Given the description of an element on the screen output the (x, y) to click on. 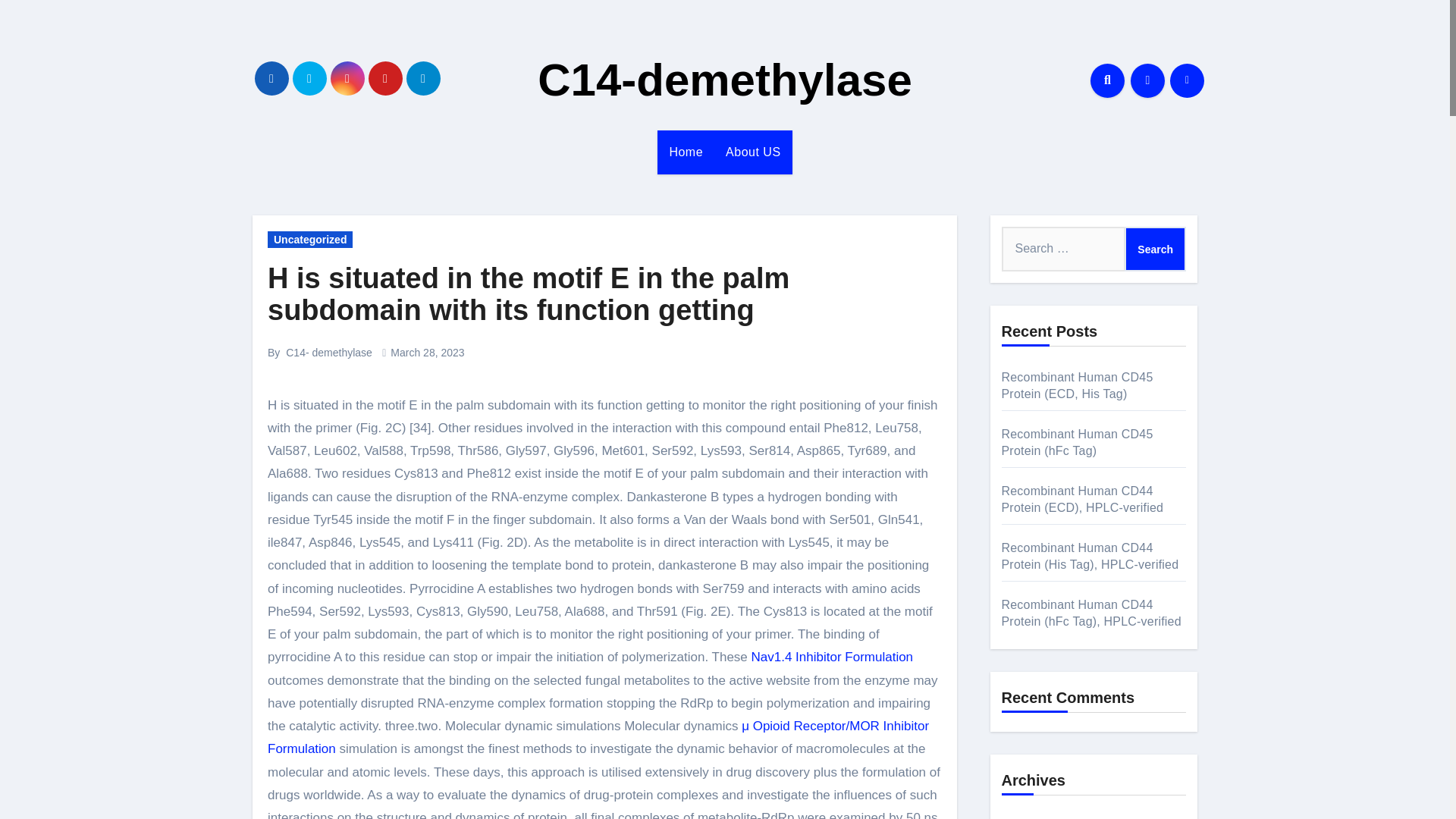
Search (1155, 248)
About US (753, 152)
Search (1155, 248)
C14-demethylase (724, 79)
About US (753, 152)
March 28, 2023 (427, 352)
Nav1.4 Inhibitor Formulation (832, 657)
Home (686, 152)
C14- demethylase (328, 352)
Home (686, 152)
Uncategorized (309, 239)
